Given the description of an element on the screen output the (x, y) to click on. 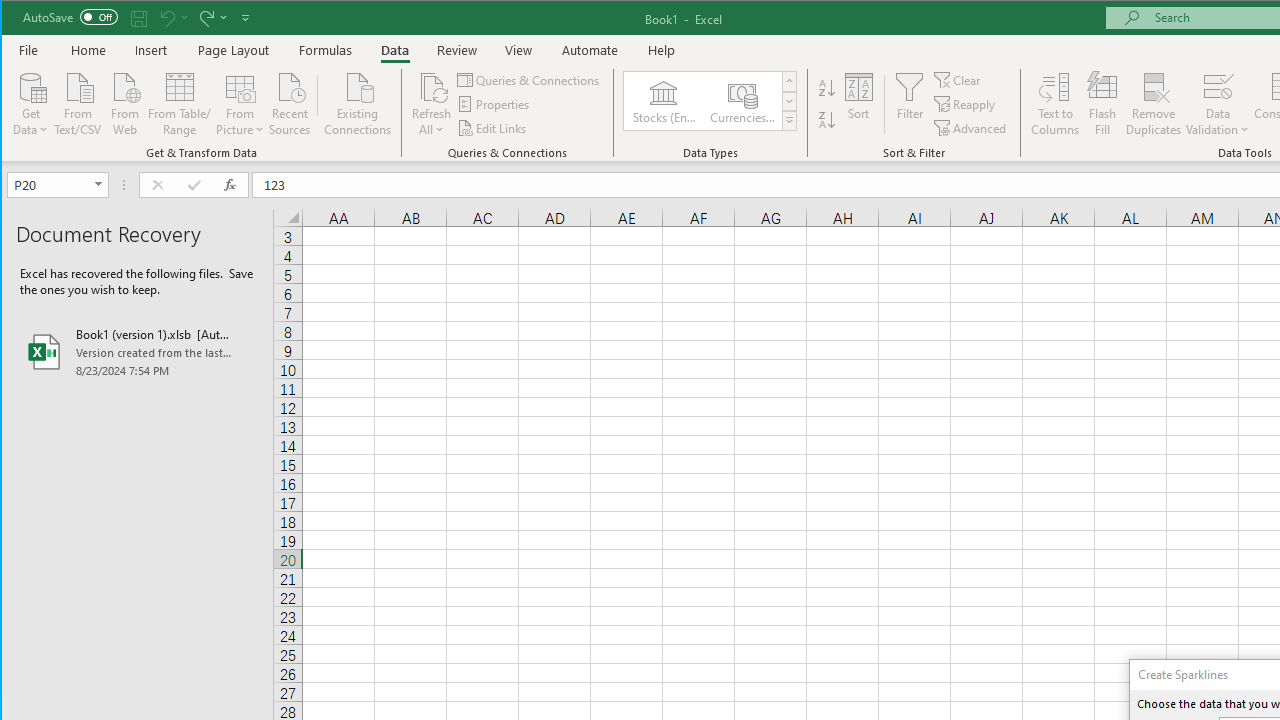
Data Validation... (1217, 86)
Class: NetUIImage (789, 120)
Currencies (English) (741, 100)
Get Data (31, 101)
Sort Smallest to Largest (827, 88)
Remove Duplicates (1153, 104)
Row up (789, 81)
From Table/Range (179, 101)
